Given the description of an element on the screen output the (x, y) to click on. 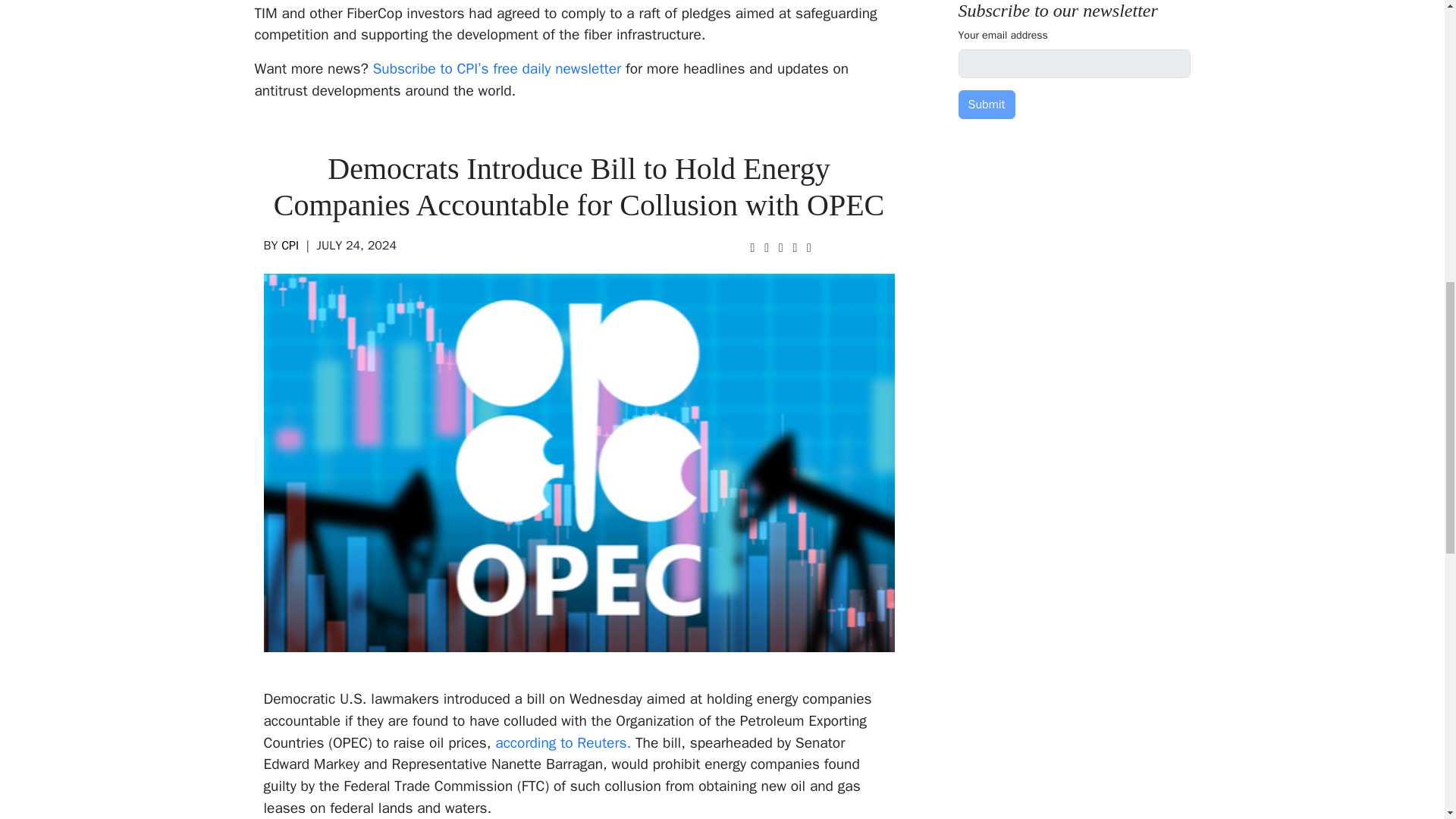
CPI (289, 245)
